Given the description of an element on the screen output the (x, y) to click on. 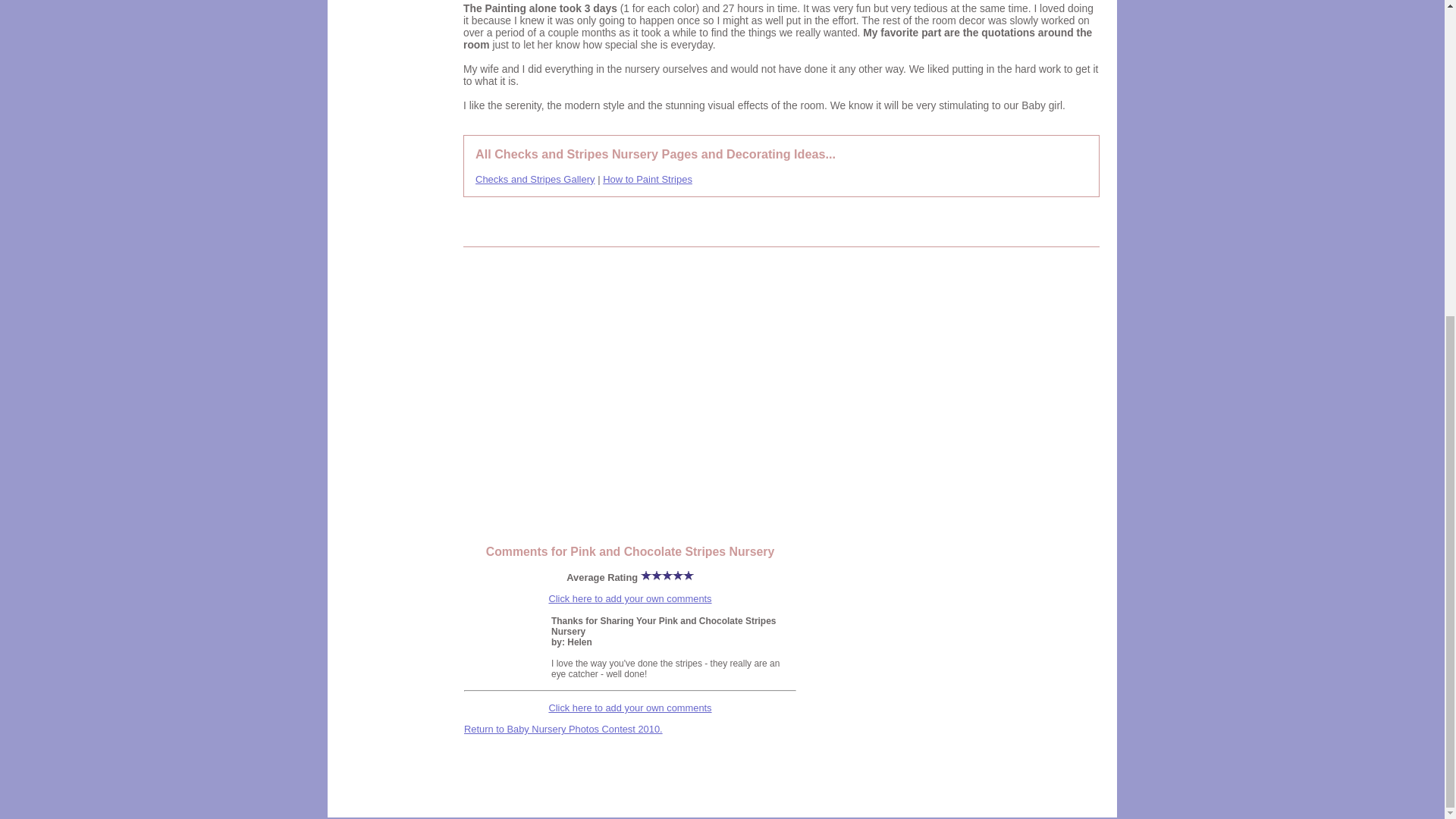
Checks and Stripes Gallery (535, 179)
Click here to add your own comments (629, 598)
How to Paint Stripes (647, 179)
Click here to add your own comments (629, 707)
Return to Baby Nursery Photos Contest 2010. (563, 728)
